Given the description of an element on the screen output the (x, y) to click on. 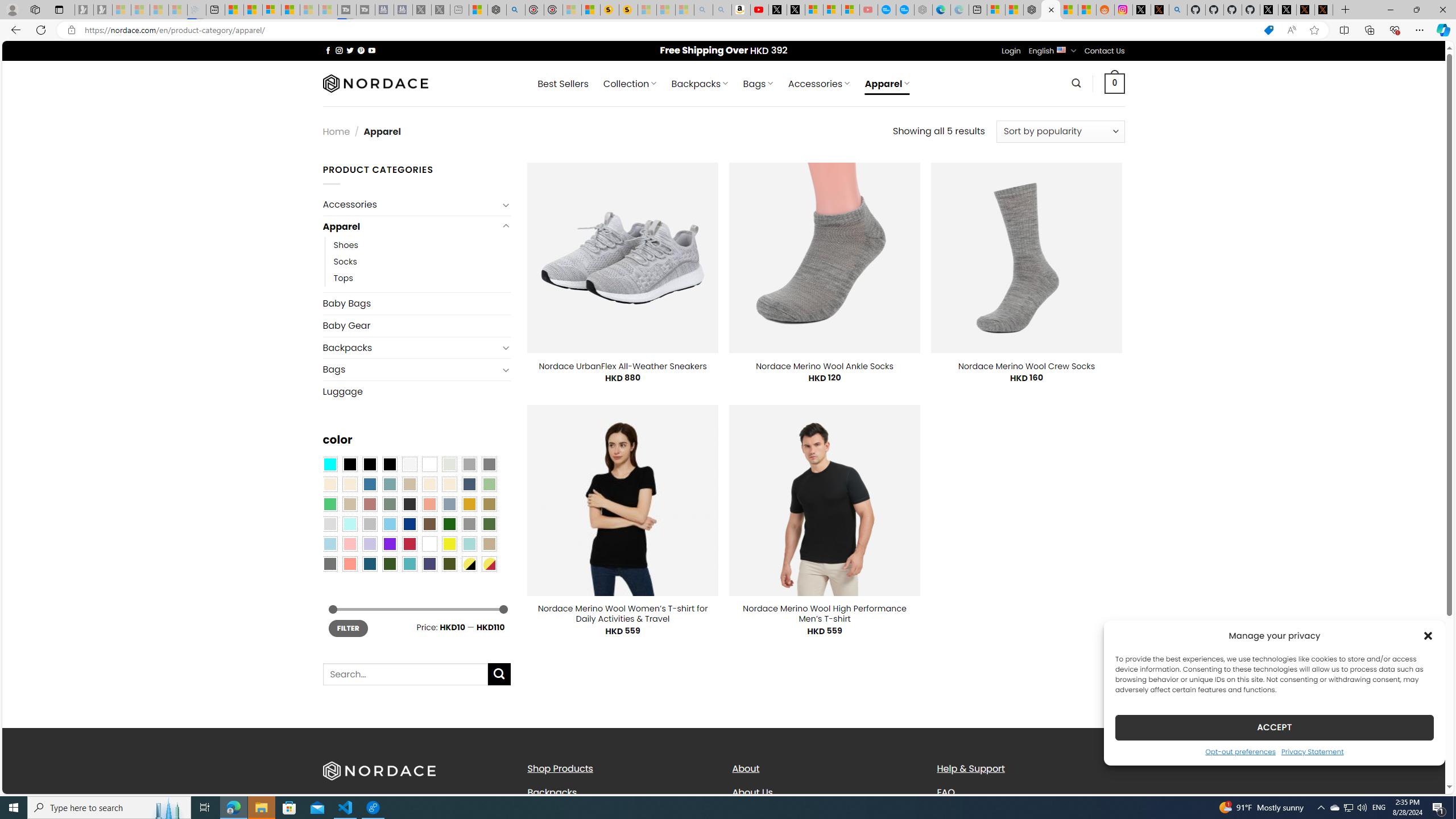
Rose (369, 503)
Profile / X (1268, 9)
Aqua Blue (329, 464)
Accessories (410, 204)
Purple (389, 543)
All Gray (488, 464)
Blue Sage (389, 483)
